Given the description of an element on the screen output the (x, y) to click on. 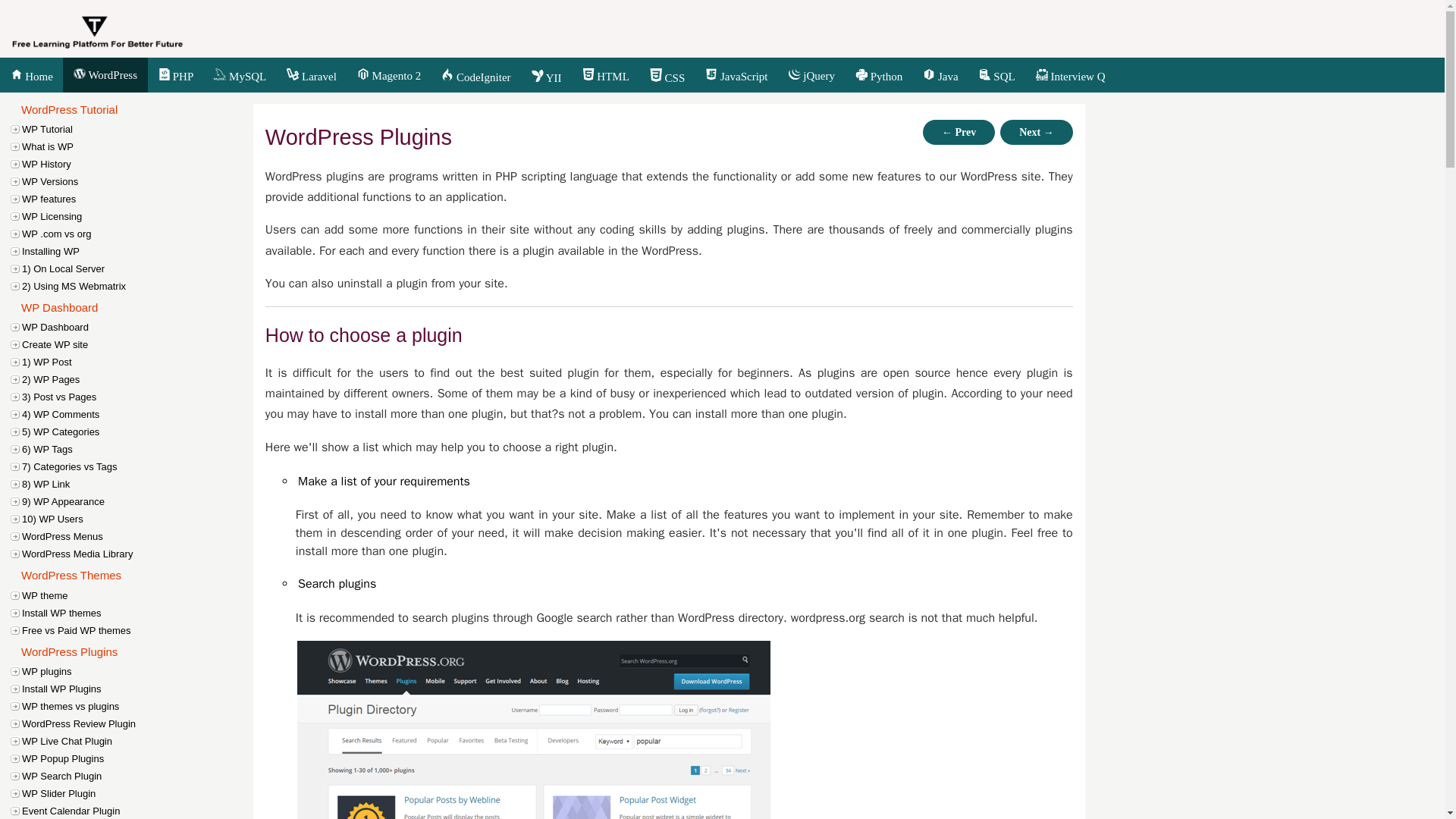
PHP (175, 76)
WP Versions (138, 181)
Laravel (311, 76)
WP Dashboard (138, 326)
Python (878, 76)
Create WP site (138, 344)
CodeIgniter (475, 76)
HTML (605, 76)
JavaScript (736, 76)
Home (31, 76)
